Given the description of an element on the screen output the (x, y) to click on. 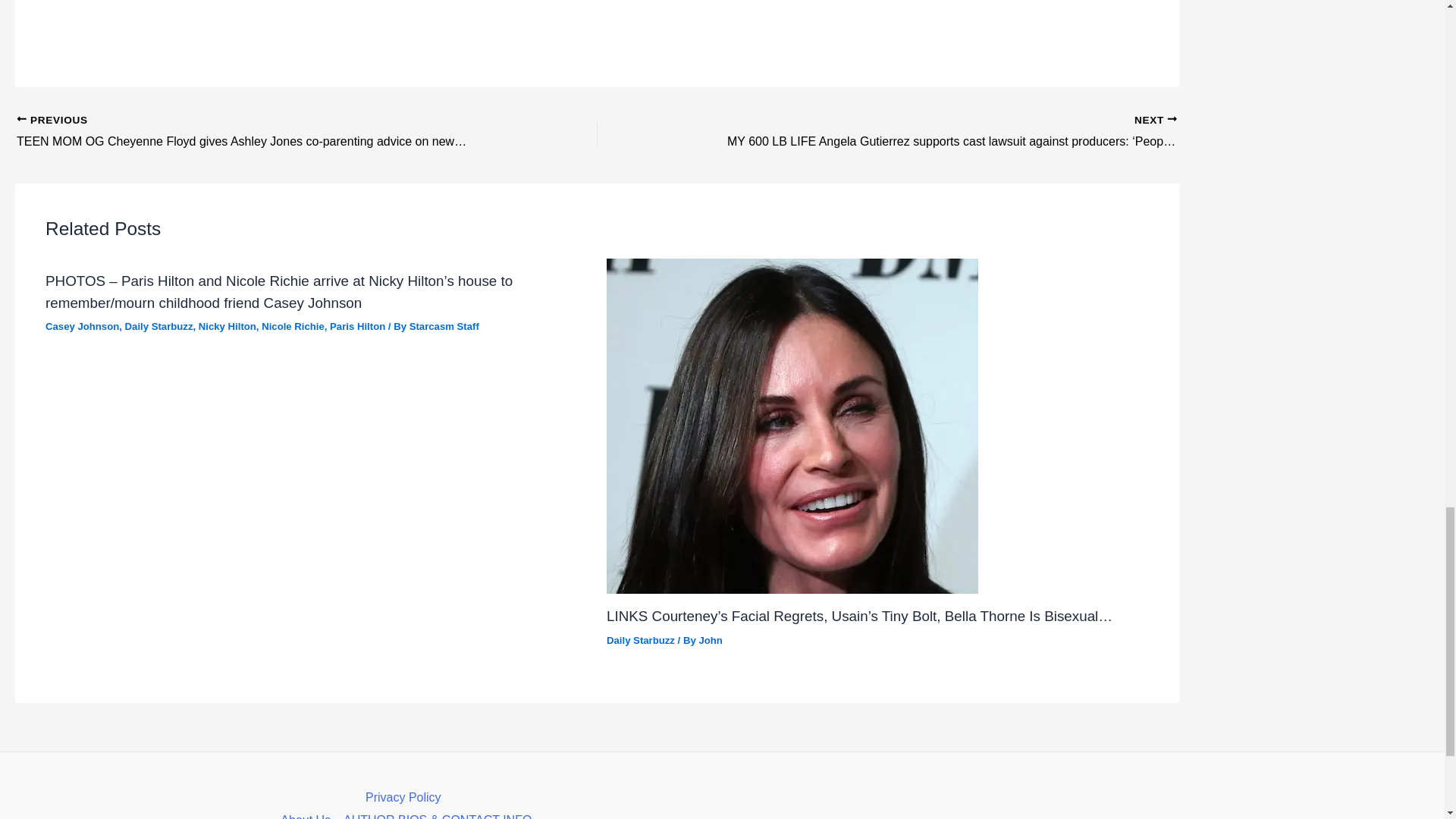
View all posts by John (710, 640)
View all posts by Starcasm Staff (444, 326)
